Given the description of an element on the screen output the (x, y) to click on. 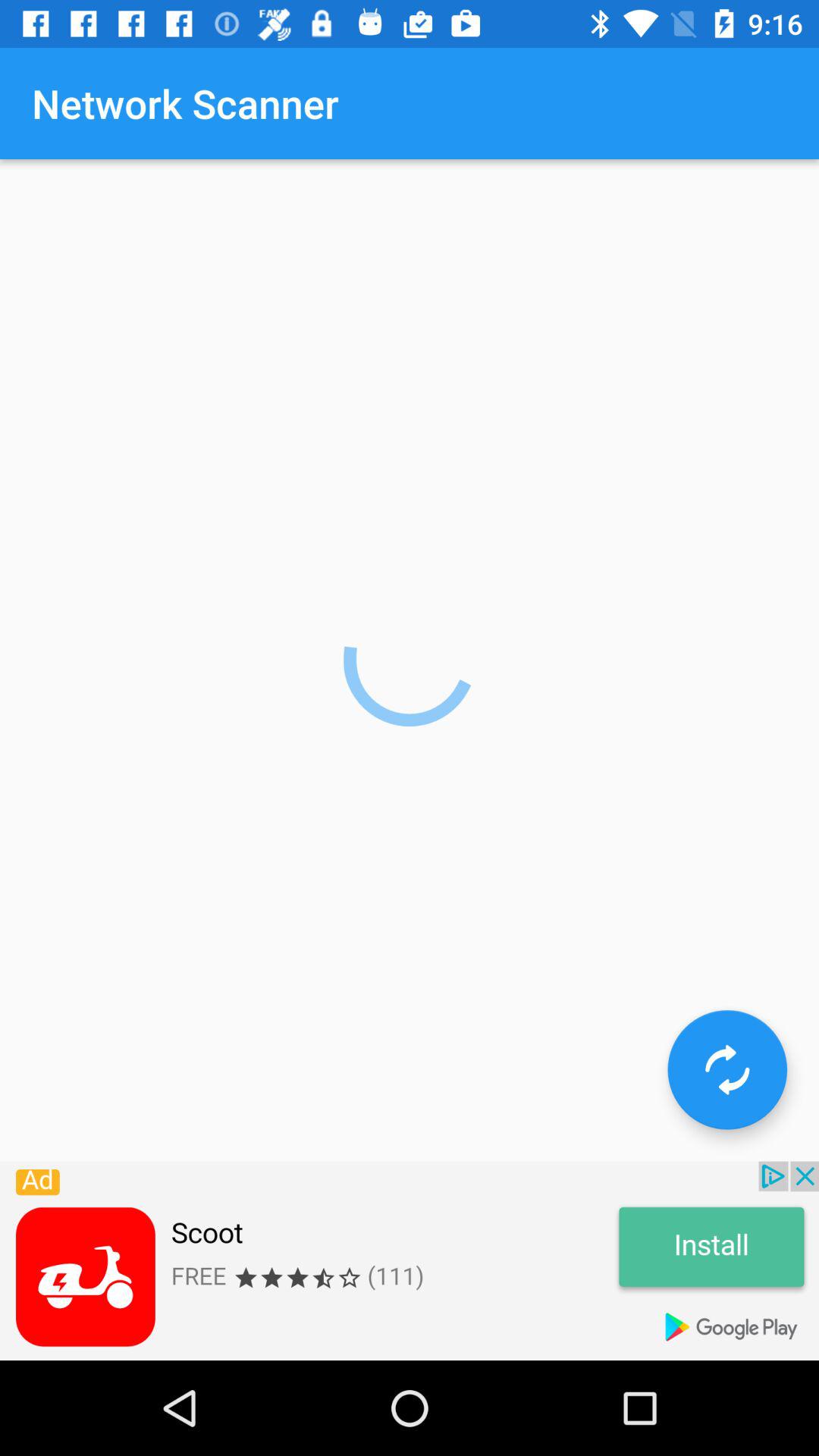
go to (727, 1069)
